Given the description of an element on the screen output the (x, y) to click on. 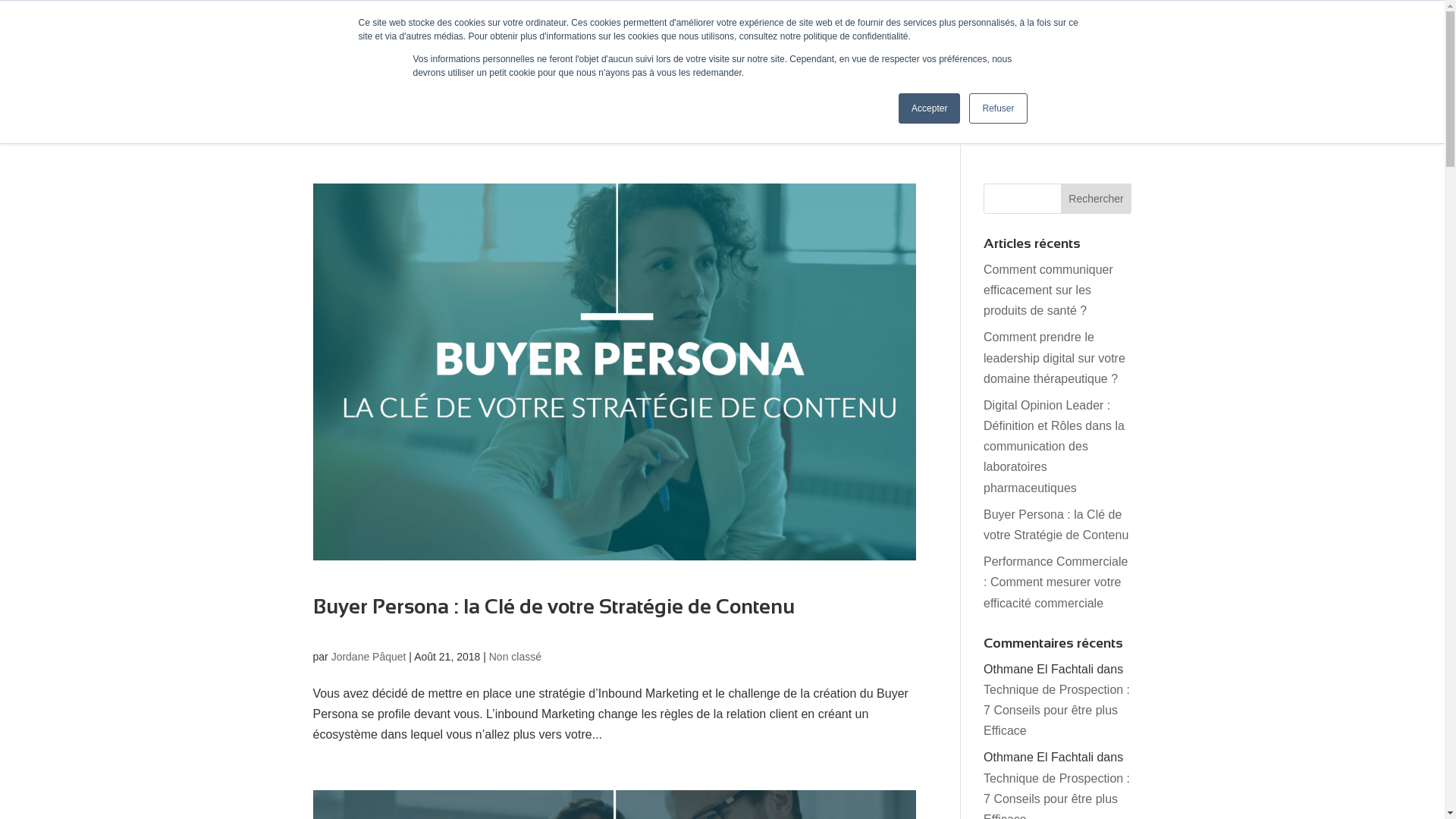
Contact Element type: text (880, 124)
Blog Element type: text (832, 124)
Refuser Element type: text (997, 108)
Accepter Element type: text (929, 108)
Accueil Element type: text (532, 124)
Rechercher Element type: text (1096, 198)
Nos prestations Element type: text (756, 124)
